Given the description of an element on the screen output the (x, y) to click on. 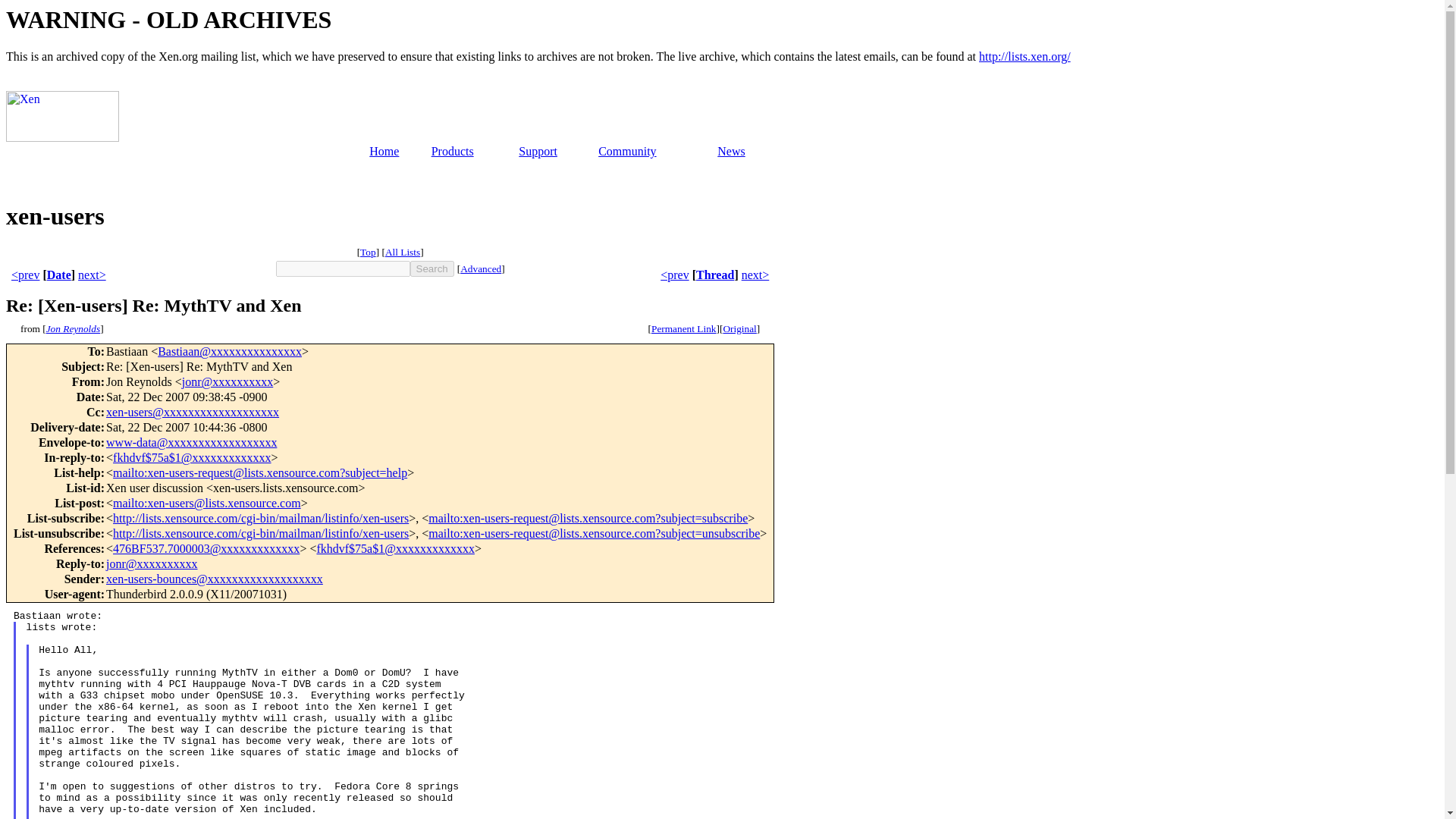
Advanced (480, 268)
Thread (714, 274)
Search (432, 268)
Products (452, 151)
Original (738, 328)
Top (367, 251)
News (730, 151)
Support (537, 151)
All Lists (402, 251)
Home (383, 151)
